Given the description of an element on the screen output the (x, y) to click on. 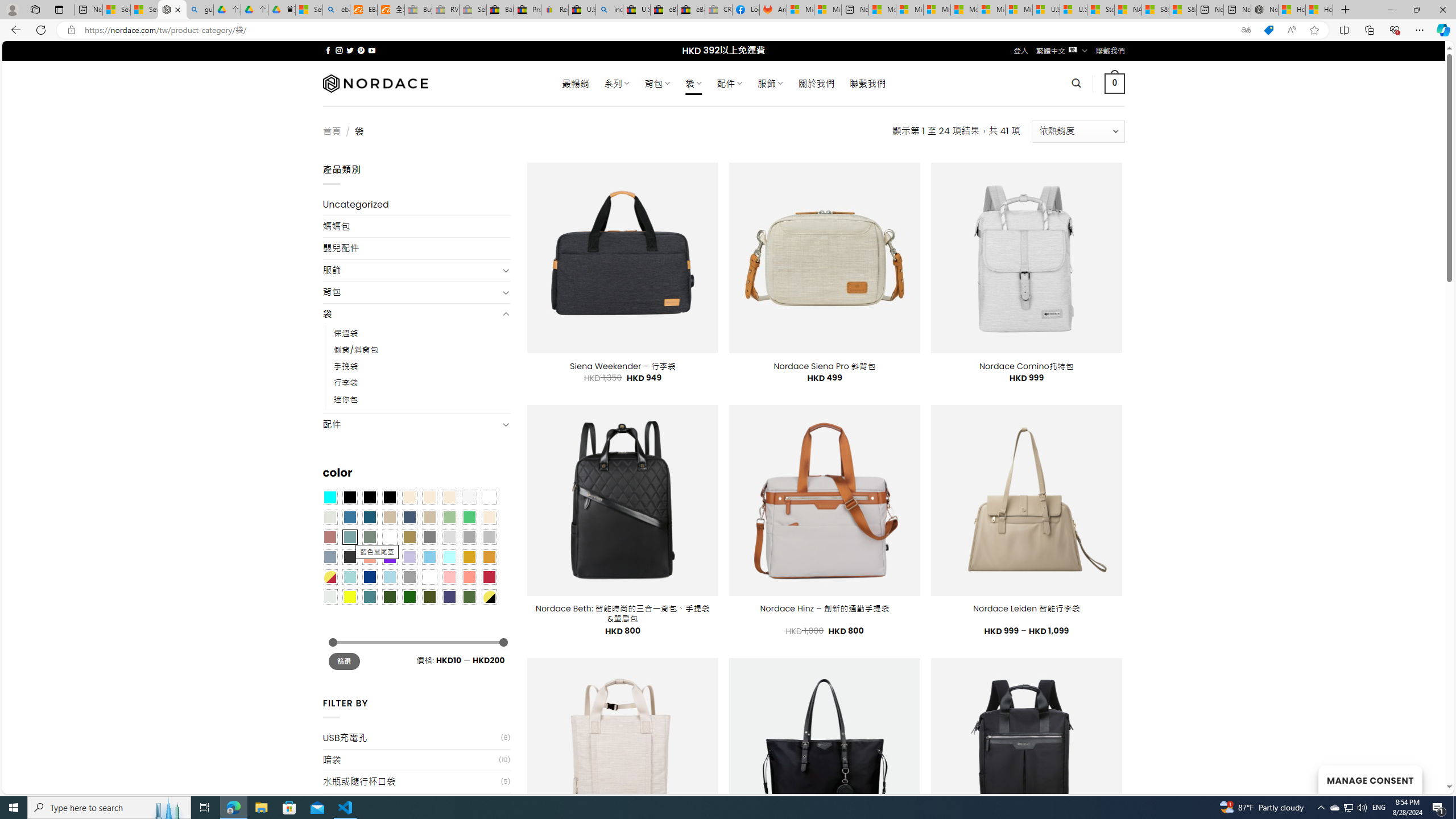
Tab actions menu (58, 9)
View site information (70, 29)
Add this page to favorites (Ctrl+D) (1314, 29)
including - Search (609, 9)
